Given the description of an element on the screen output the (x, y) to click on. 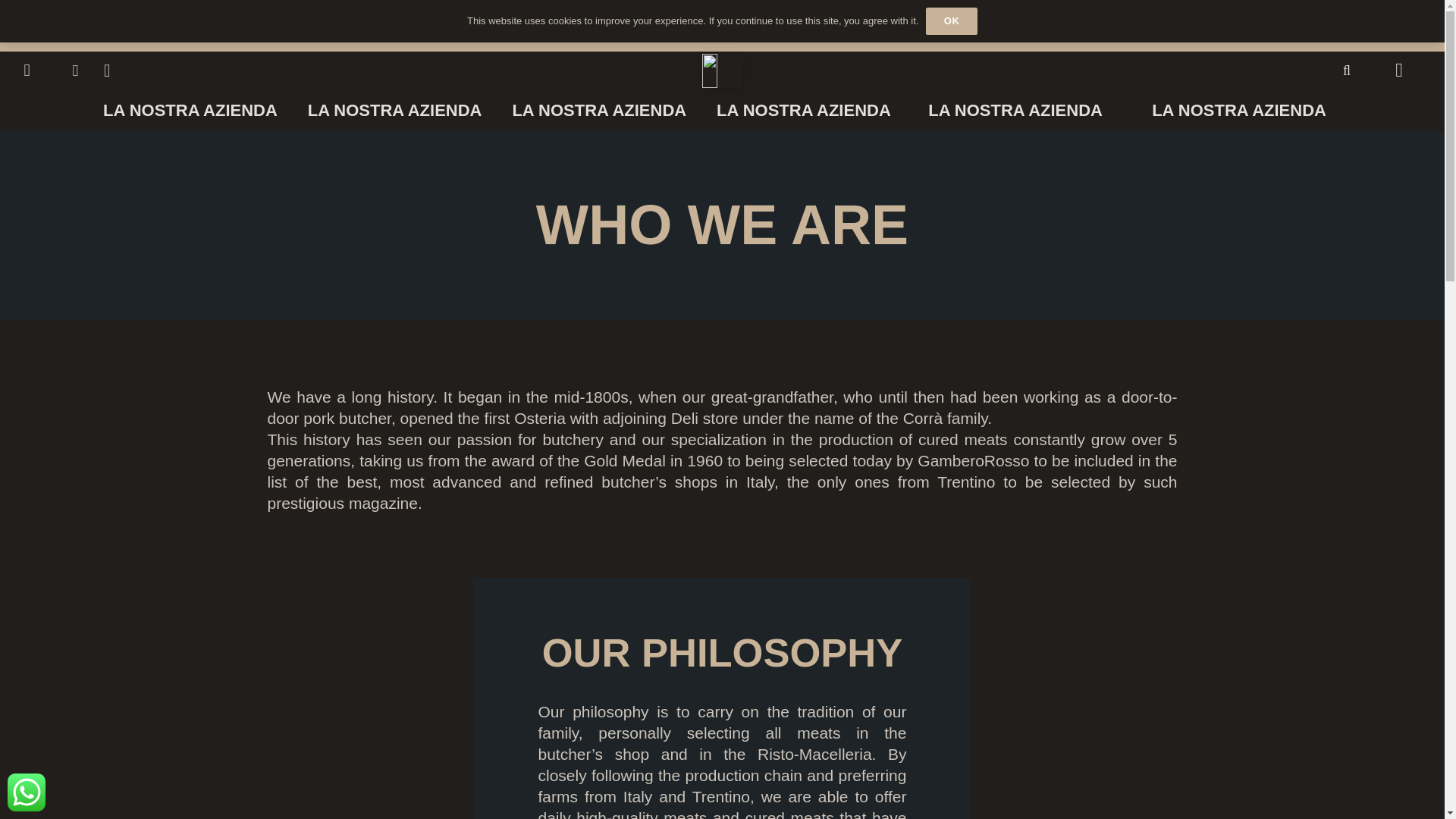
LA NOSTRA AZIENDA (394, 108)
LA NOSTRA AZIENDA (1238, 109)
LA NOSTRA AZIENDA (190, 108)
Contattaci (26, 792)
0 (1399, 69)
LA NOSTRA AZIENDA (598, 108)
LA NOSTRA AZIENDA (1015, 109)
OK (951, 21)
LA NOSTRA AZIENDA (803, 108)
Instagram (106, 70)
Facebook (74, 70)
